Given the description of an element on the screen output the (x, y) to click on. 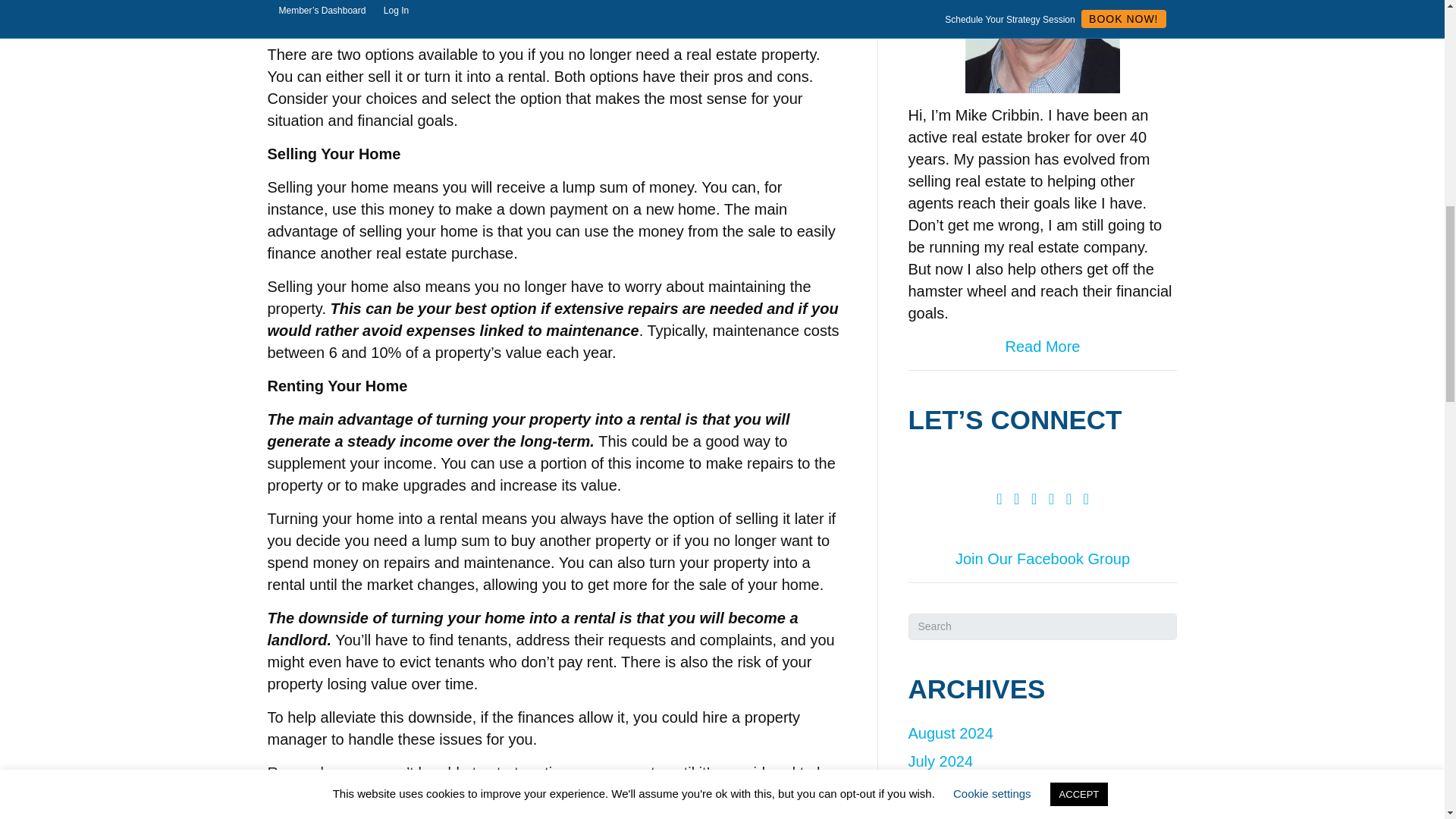
Read More (1043, 346)
Join Our Facebook Group (1042, 558)
July 2024 (941, 760)
June 2024 (943, 789)
May 2024 (941, 814)
August 2024 (950, 733)
Type and press Enter to search. (1042, 626)
